Given the description of an element on the screen output the (x, y) to click on. 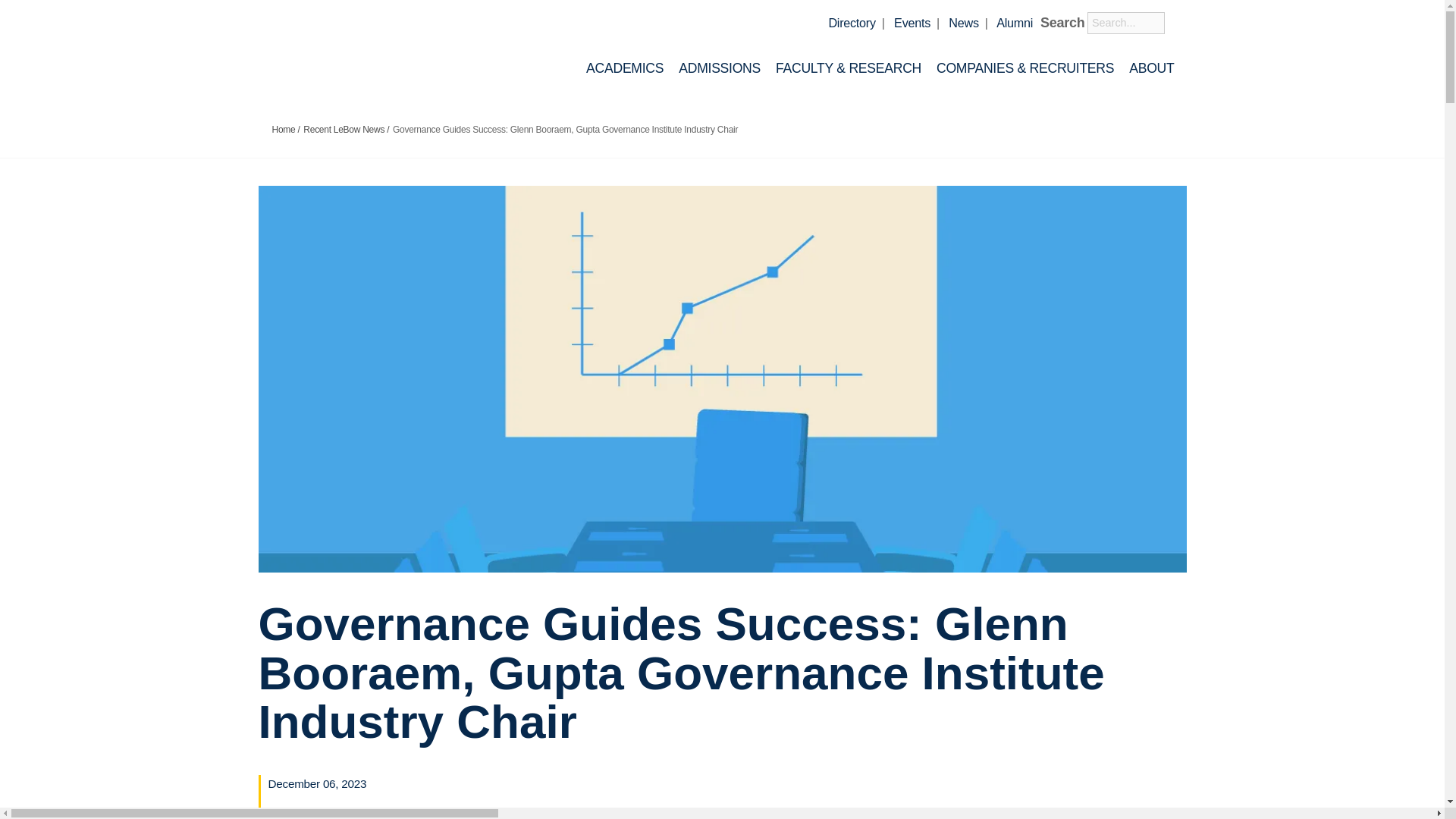
LeBow News (963, 22)
Alumni (1013, 22)
Upcoming events at LeBow College of Business (911, 22)
ADMISSIONS (719, 67)
LeBow College of Business (382, 54)
Directory (851, 22)
Events (911, 22)
ABOUT (1151, 67)
News (963, 22)
ACADEMICS (624, 67)
LeBow College of Business (382, 51)
Admissions information for all of our programs (719, 67)
